Given the description of an element on the screen output the (x, y) to click on. 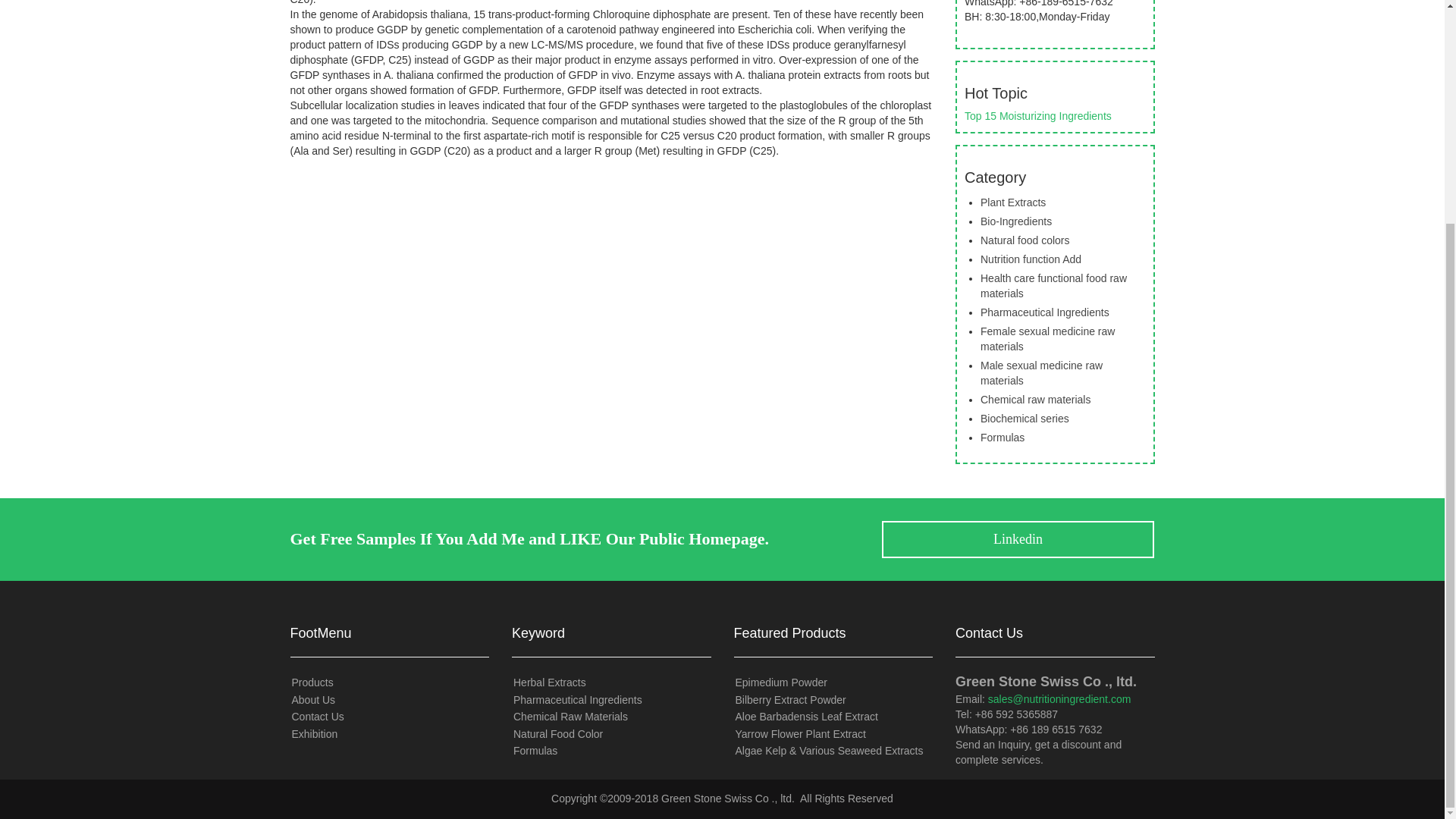
Yarrow Flower Plant Extract (800, 734)
Top 15 Moisturizing Ingredients (1037, 115)
Formulas (535, 750)
Products (312, 682)
Nutrition function Add (1030, 259)
Chemical Raw Materials (570, 716)
Chemical raw materials (1034, 399)
Aloe Barbadensis Leaf Extract (806, 716)
Bio-Ingredients (1015, 221)
Contact us (317, 716)
Health care functional food raw materials (1052, 285)
Plant Extracts (1012, 202)
Natural Food Color (557, 734)
Male sexual medicine raw materials (1040, 372)
Bilberry Extract Powder (790, 699)
